Given the description of an element on the screen output the (x, y) to click on. 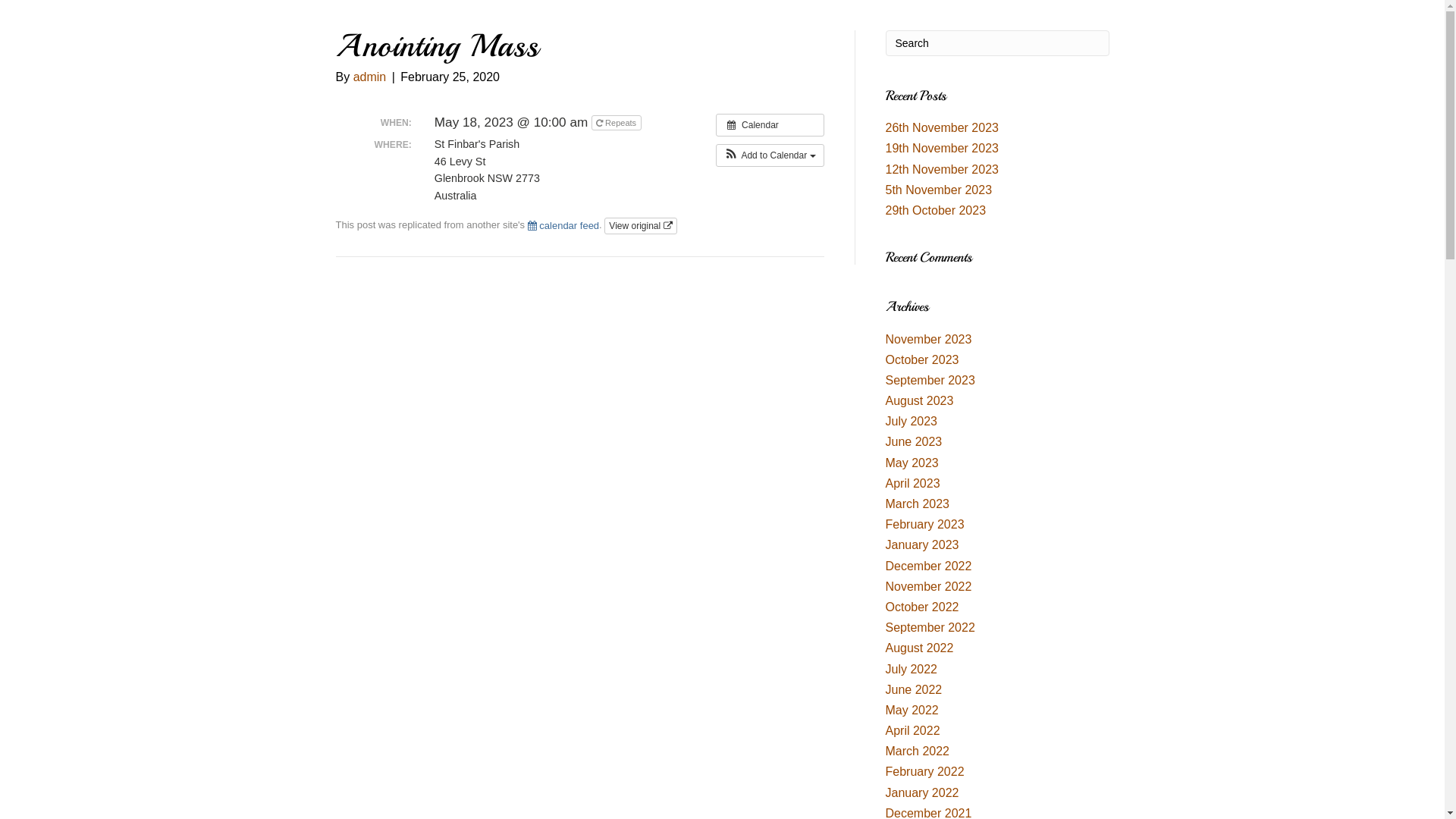
September 2022 Element type: text (930, 627)
June 2023 Element type: text (913, 441)
November 2023 Element type: text (928, 338)
26th November 2023 Element type: text (941, 127)
April 2023 Element type: text (912, 482)
March 2023 Element type: text (917, 503)
September 2023 Element type: text (930, 379)
October 2022 Element type: text (922, 606)
June 2022 Element type: text (913, 689)
May 2023 Element type: text (911, 462)
admin Element type: text (369, 76)
April 2022 Element type: text (912, 730)
May 2022 Element type: text (911, 709)
December 2022 Element type: text (928, 565)
July 2022 Element type: text (911, 668)
View original Element type: text (640, 225)
February 2023 Element type: text (924, 523)
5th November 2023 Element type: text (938, 189)
Type and press Enter to search. Element type: hover (997, 43)
calendar feed Element type: text (563, 225)
November 2022 Element type: text (928, 586)
August 2022 Element type: text (919, 647)
August 2023 Element type: text (919, 400)
October 2023 Element type: text (922, 359)
January 2023 Element type: text (922, 544)
Calendar Element type: text (769, 124)
Repeats Element type: text (616, 123)
January 2022 Element type: text (922, 792)
29th October 2023 Element type: text (935, 209)
March 2022 Element type: text (917, 750)
12th November 2023 Element type: text (941, 169)
July 2023 Element type: text (911, 420)
19th November 2023 Element type: text (941, 147)
February 2022 Element type: text (924, 771)
